Given the description of an element on the screen output the (x, y) to click on. 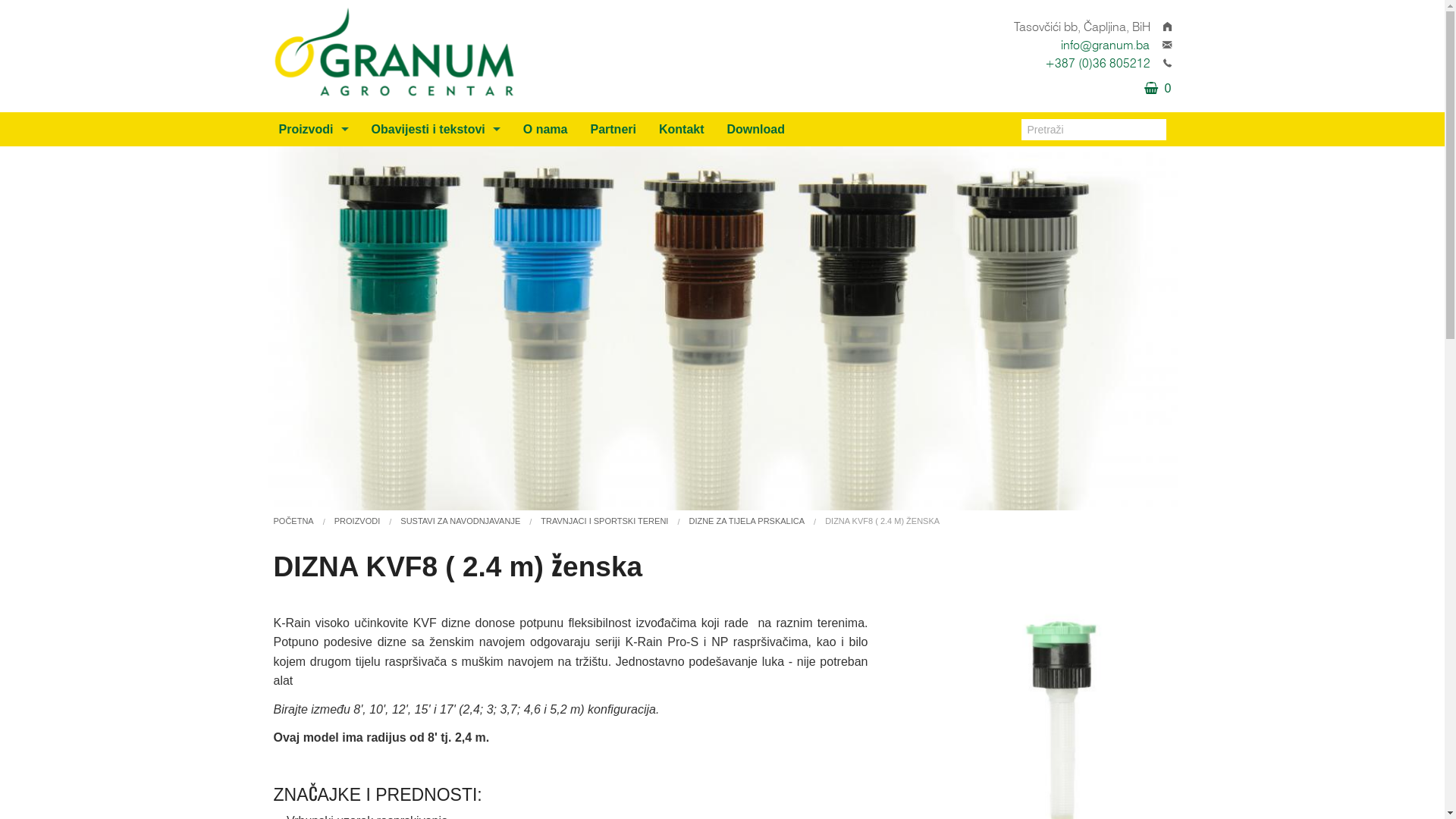
Gnojiva Element type: text (312, 299)
Partneri Element type: text (612, 129)
Proizvodi Element type: text (312, 129)
Sustavi za navodnjavanje Element type: text (312, 163)
Supstrati Element type: text (312, 265)
SUSTAVI ZA NAVODNJAVANJE Element type: text (460, 520)
Vrtni centar Element type: text (312, 436)
Folije za plastenike i ostala oprema Element type: text (312, 197)
Obavijesti i tekstovi Element type: text (435, 129)
+387 (0)36 805212 Element type: text (1097, 63)
PROIZVODI Element type: text (357, 520)
O nama Element type: text (545, 129)
Alati za profesionalce Element type: text (312, 606)
TRAVNJACI I SPORTSKI TERENI Element type: text (604, 520)
Download Element type: text (755, 129)
Maslinarstvo Element type: text (312, 402)
Maloprodaja Element type: text (312, 231)
 0 Element type: text (1151, 87)
Destilerija Element type: text (435, 197)
info@granum.ba Element type: text (1104, 45)
Kontakt Element type: text (681, 129)
DIZNE ZA TIJELA PRSKALICA Element type: text (746, 520)
Novosti Element type: text (435, 163)
